Given the description of an element on the screen output the (x, y) to click on. 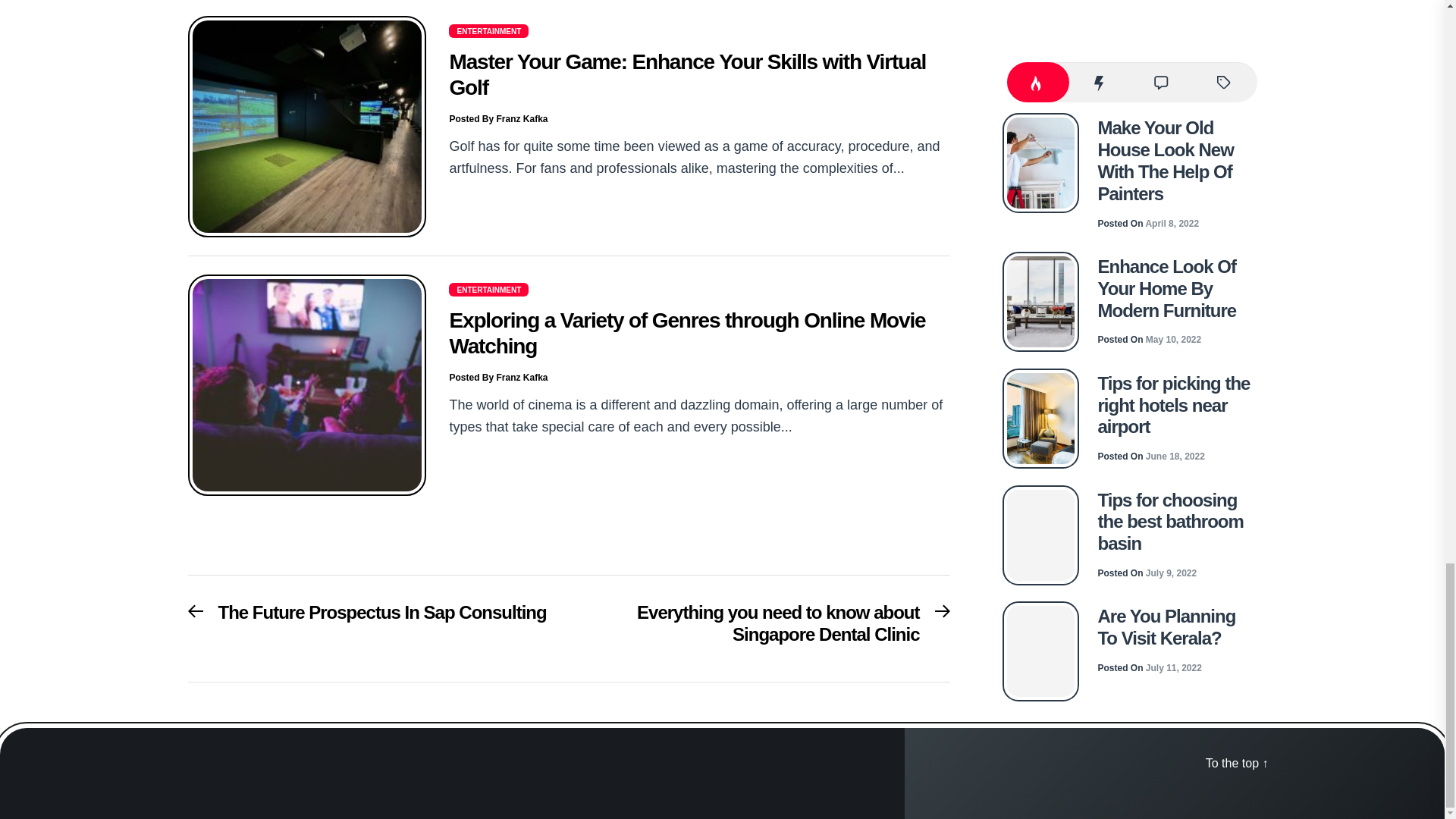
ENTERTAINMENT (488, 289)
Posted By Franz Kafka (367, 617)
Master Your Game: Enhance Your Skills with Virtual Golf (497, 118)
Everything you need to know about Singapore Dental Clinic (687, 74)
Posted By Franz Kafka (766, 628)
Exploring a Variety of Genres through Online Movie Watching (497, 377)
ENTERTAINMENT (686, 332)
